Given the description of an element on the screen output the (x, y) to click on. 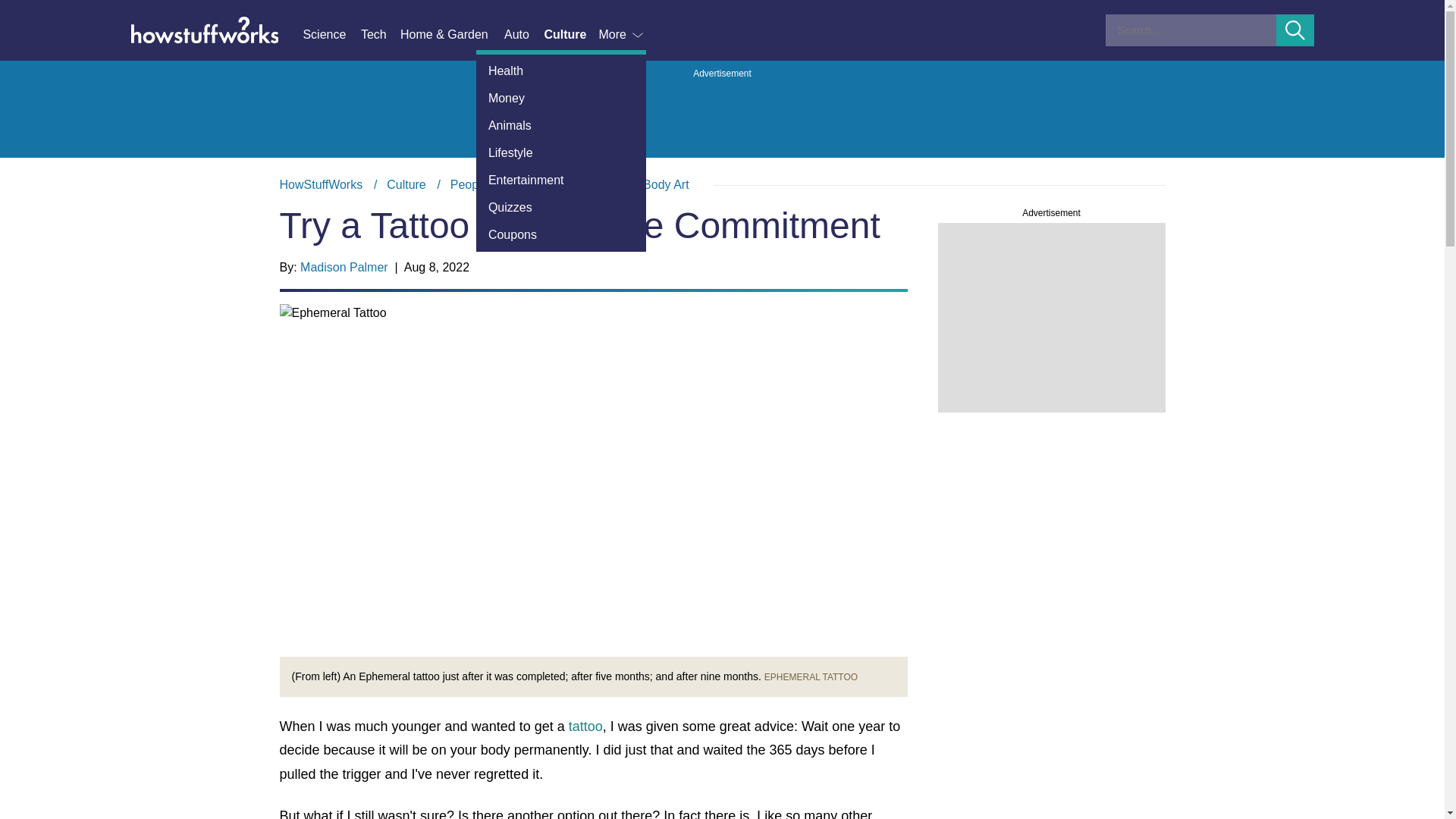
Money (561, 98)
Coupons (561, 234)
More (621, 34)
People (468, 184)
Submit Search (1295, 29)
Animals (561, 125)
Health (561, 71)
Culture (570, 34)
HowStuffWorks (320, 184)
Culture (406, 184)
Body Art (665, 184)
Tech (380, 34)
Auto (523, 34)
Quizzes (561, 207)
Science (330, 34)
